Given the description of an element on the screen output the (x, y) to click on. 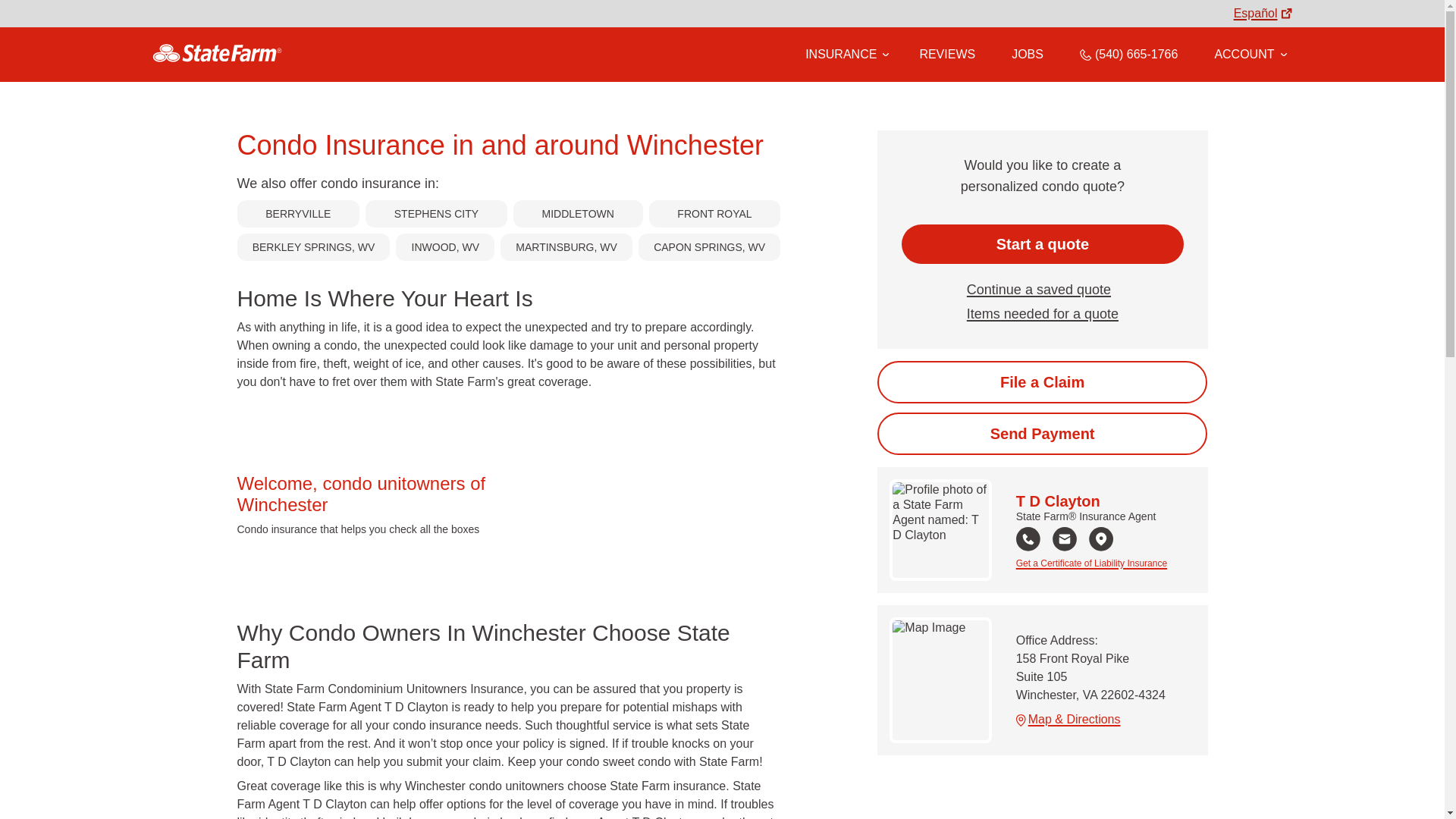
Insurance (844, 54)
REVIEWS (946, 54)
ACCOUNT (1250, 54)
Start the claim process online (1042, 382)
INSURANCE (840, 54)
Account Options (1250, 54)
JOBS (1027, 54)
